Given the description of an element on the screen output the (x, y) to click on. 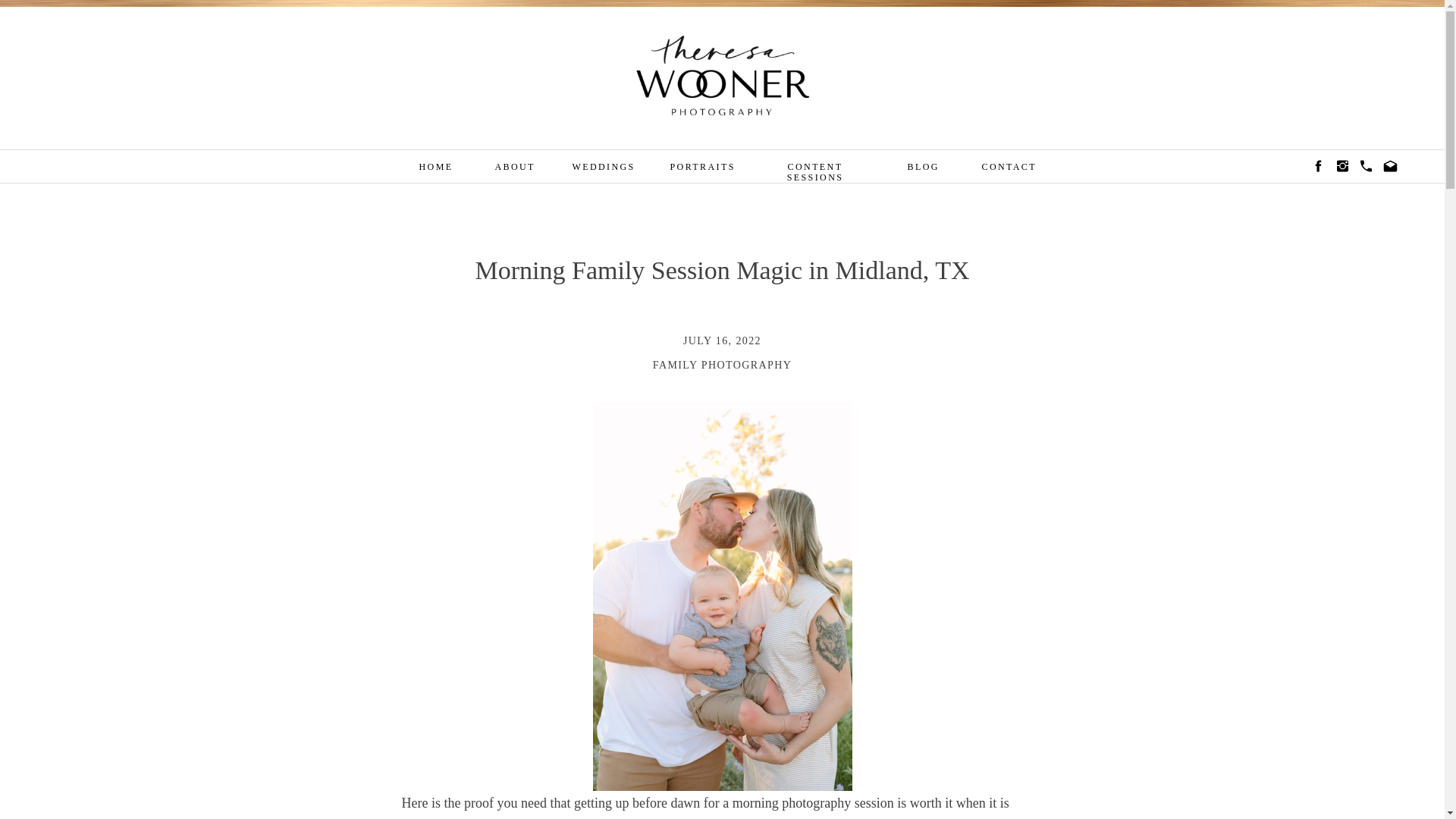
PORTRAITS (696, 168)
CONTACT (1003, 168)
WEDDINGS (599, 168)
ABOUT (511, 168)
CONTENT SESSIONS (815, 168)
HOME (434, 168)
FAMILY PHOTOGRAPHY (722, 365)
BLOG (922, 168)
